Given the description of an element on the screen output the (x, y) to click on. 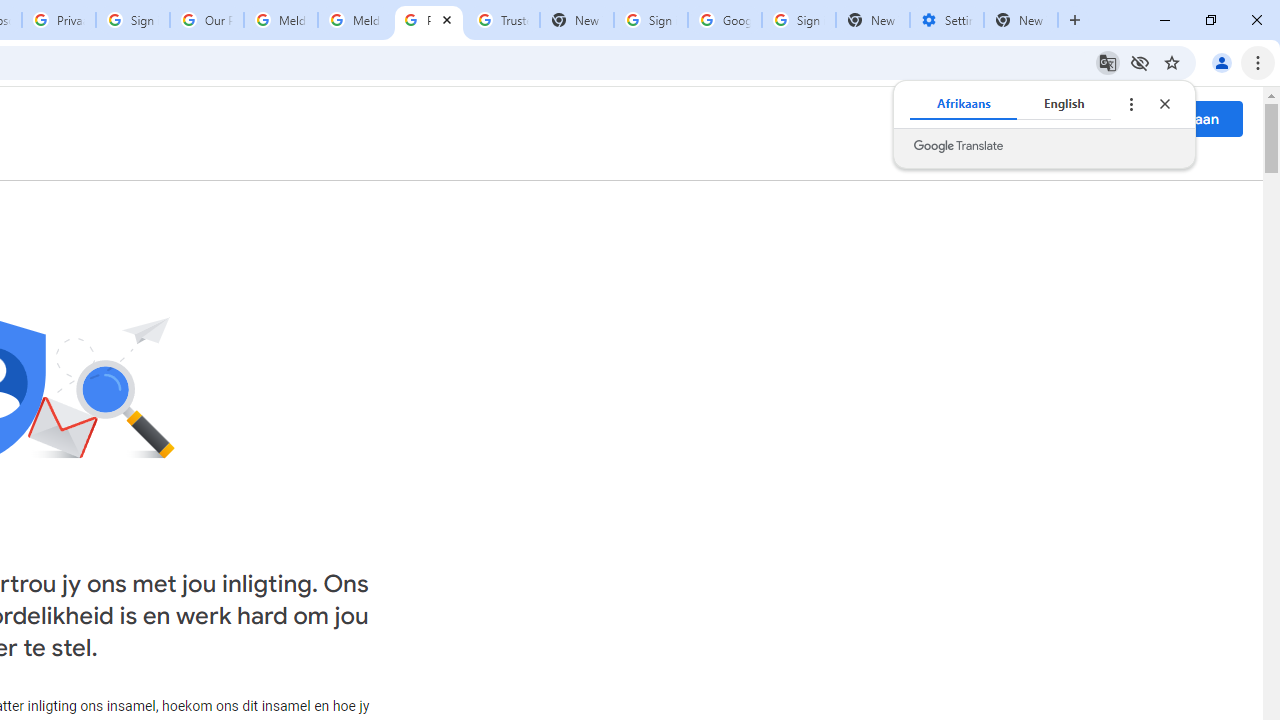
Afrikaans (963, 103)
English (1064, 103)
Sign in - Google Accounts (651, 20)
Translate options (1130, 103)
Meld aan (1188, 118)
Translate this page (1107, 62)
Settings - Addresses and more (947, 20)
